Given the description of an element on the screen output the (x, y) to click on. 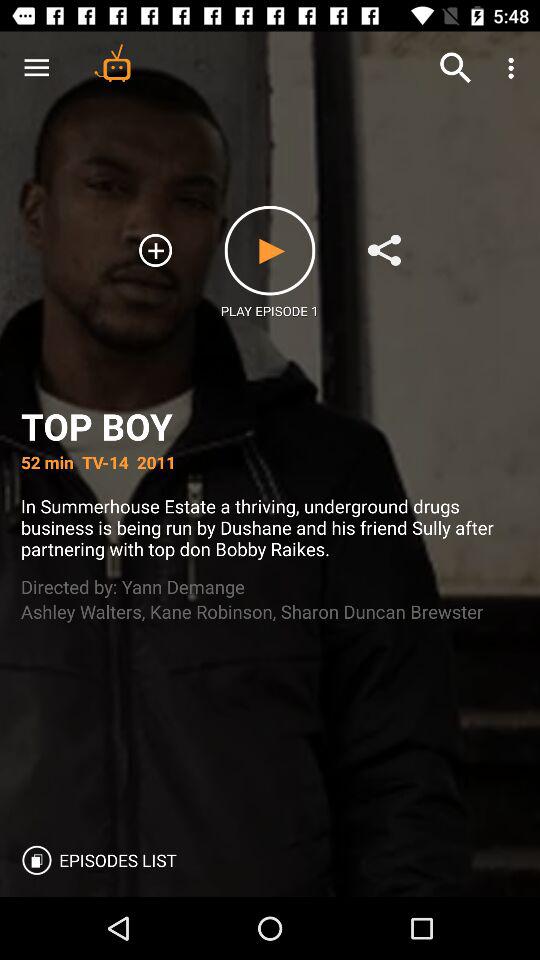
play the episode (269, 250)
